Given the description of an element on the screen output the (x, y) to click on. 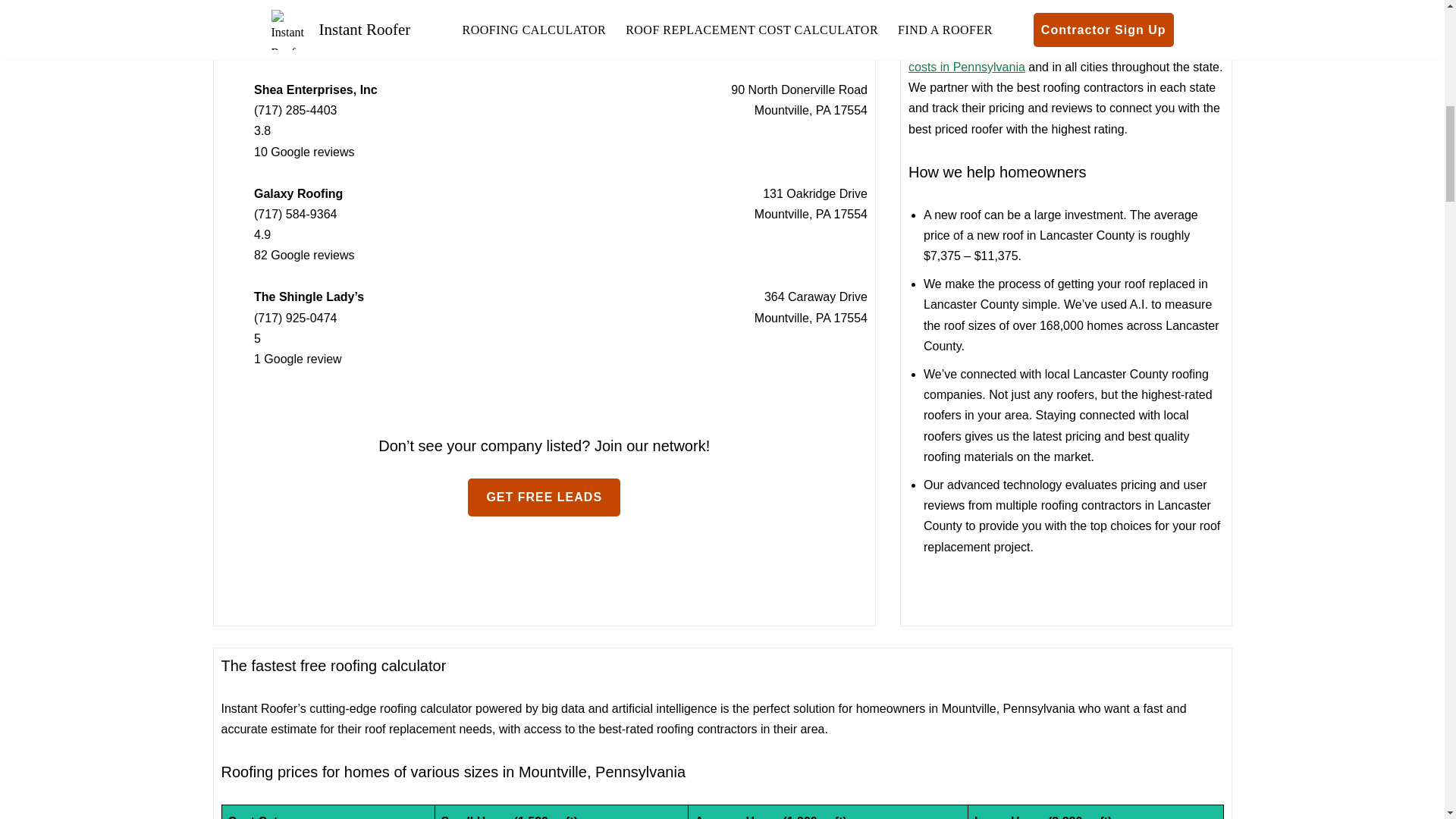
GET FREE LEADS (543, 497)
roof replacement costs in Pennsylvania (1055, 56)
